Given the description of an element on the screen output the (x, y) to click on. 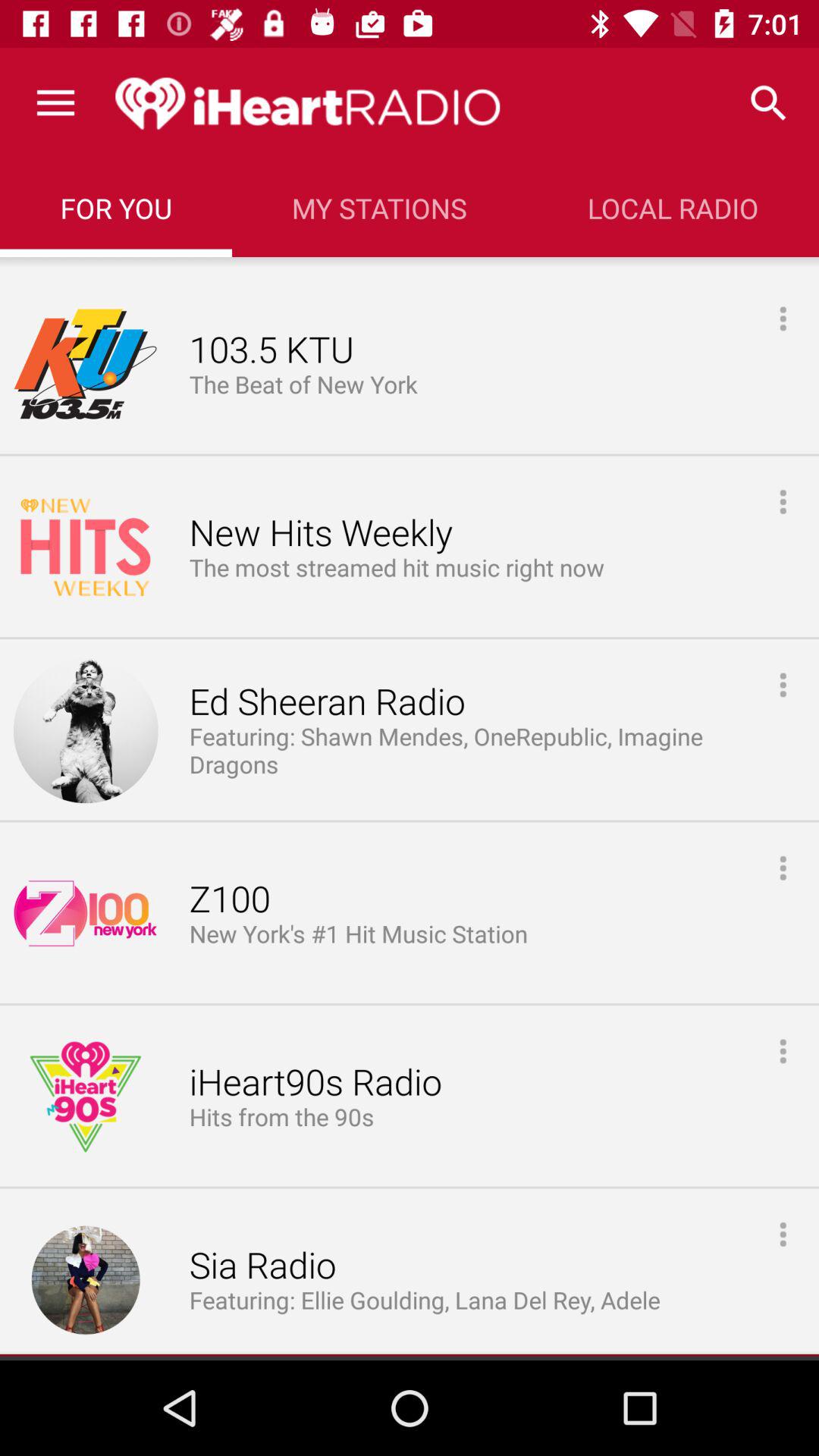
flip to iheart90s radio (315, 1082)
